Given the description of an element on the screen output the (x, y) to click on. 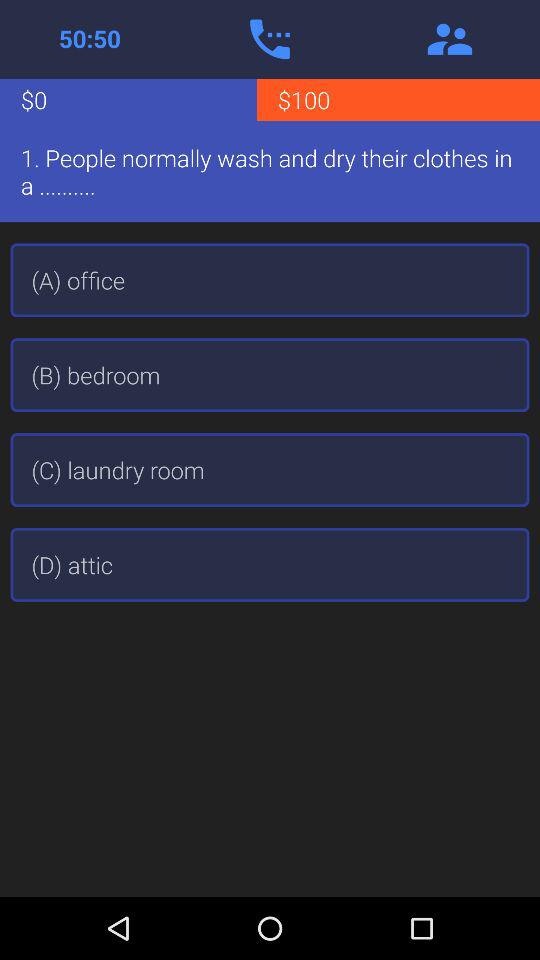
open icon above (d) attic app (269, 469)
